Given the description of an element on the screen output the (x, y) to click on. 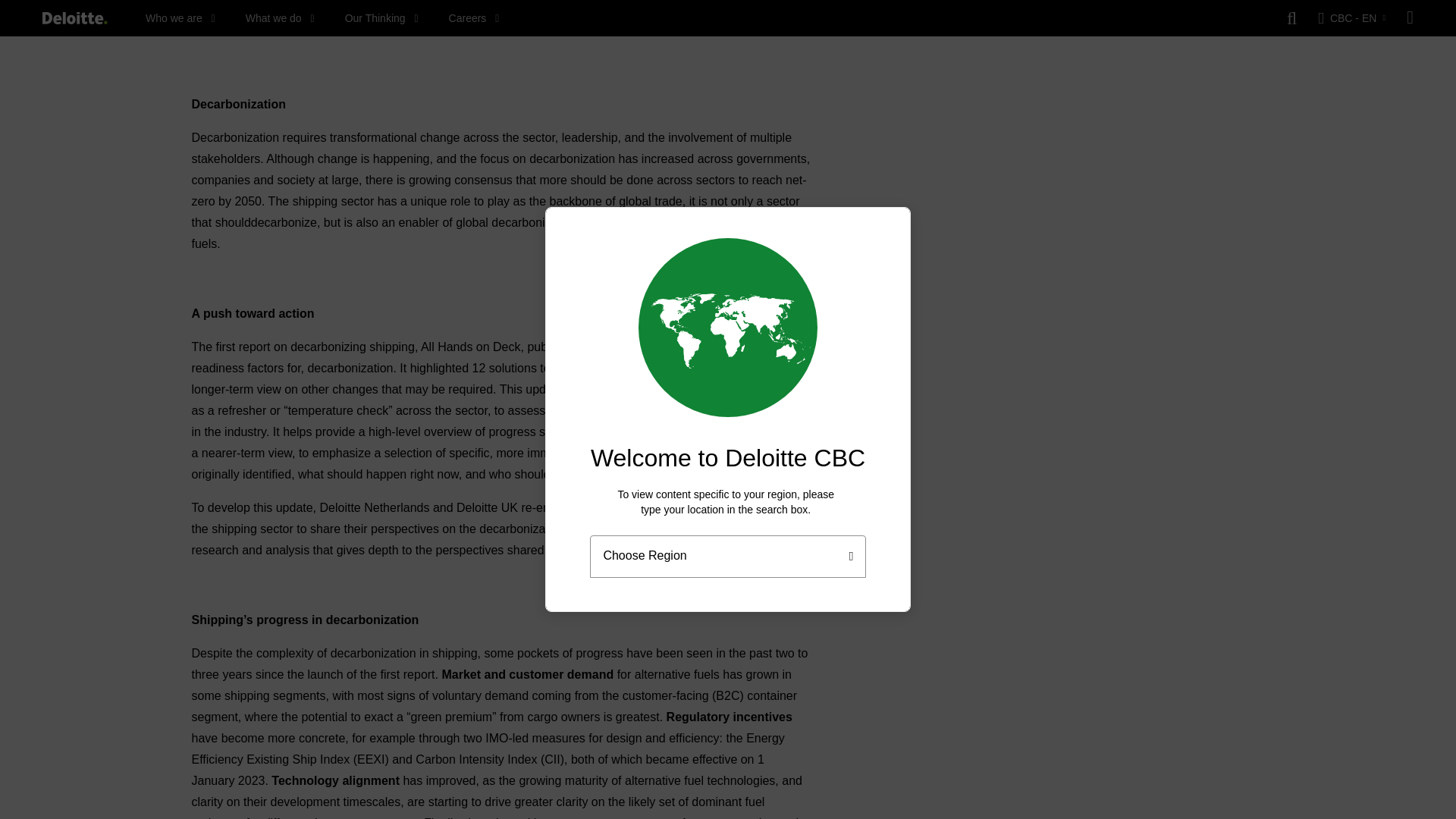
Decarbonizing Shipping: Report (500, 15)
Decarbonizing Shipping: Report (500, 34)
